Given the description of an element on the screen output the (x, y) to click on. 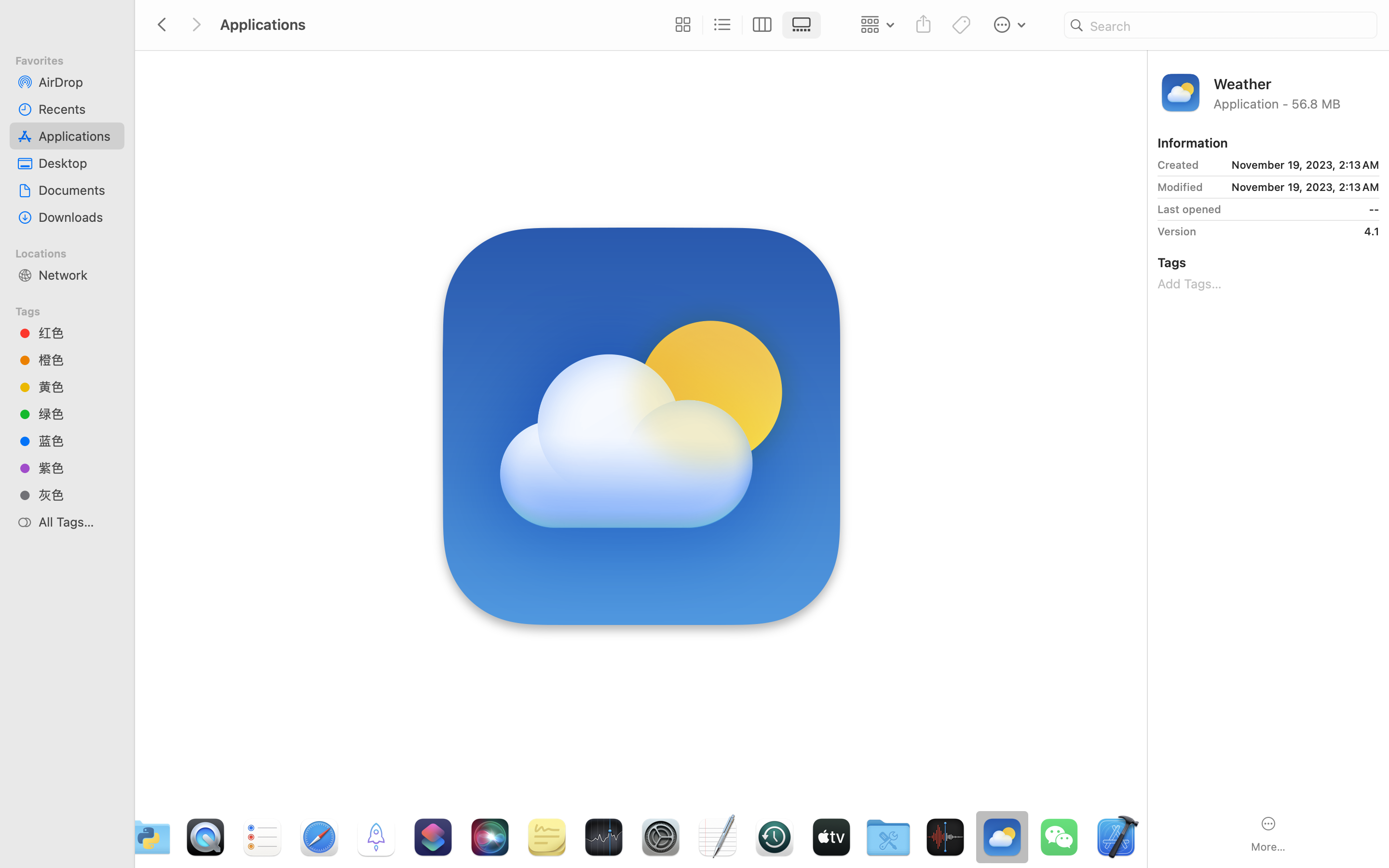
Created Element type: AXStaticText (1177, 164)
4.1 Element type: AXStaticText (1290, 231)
Desktop Element type: AXStaticText (77, 162)
Modified Element type: AXStaticText (1179, 186)
Documents Element type: AXStaticText (77, 189)
